Given the description of an element on the screen output the (x, y) to click on. 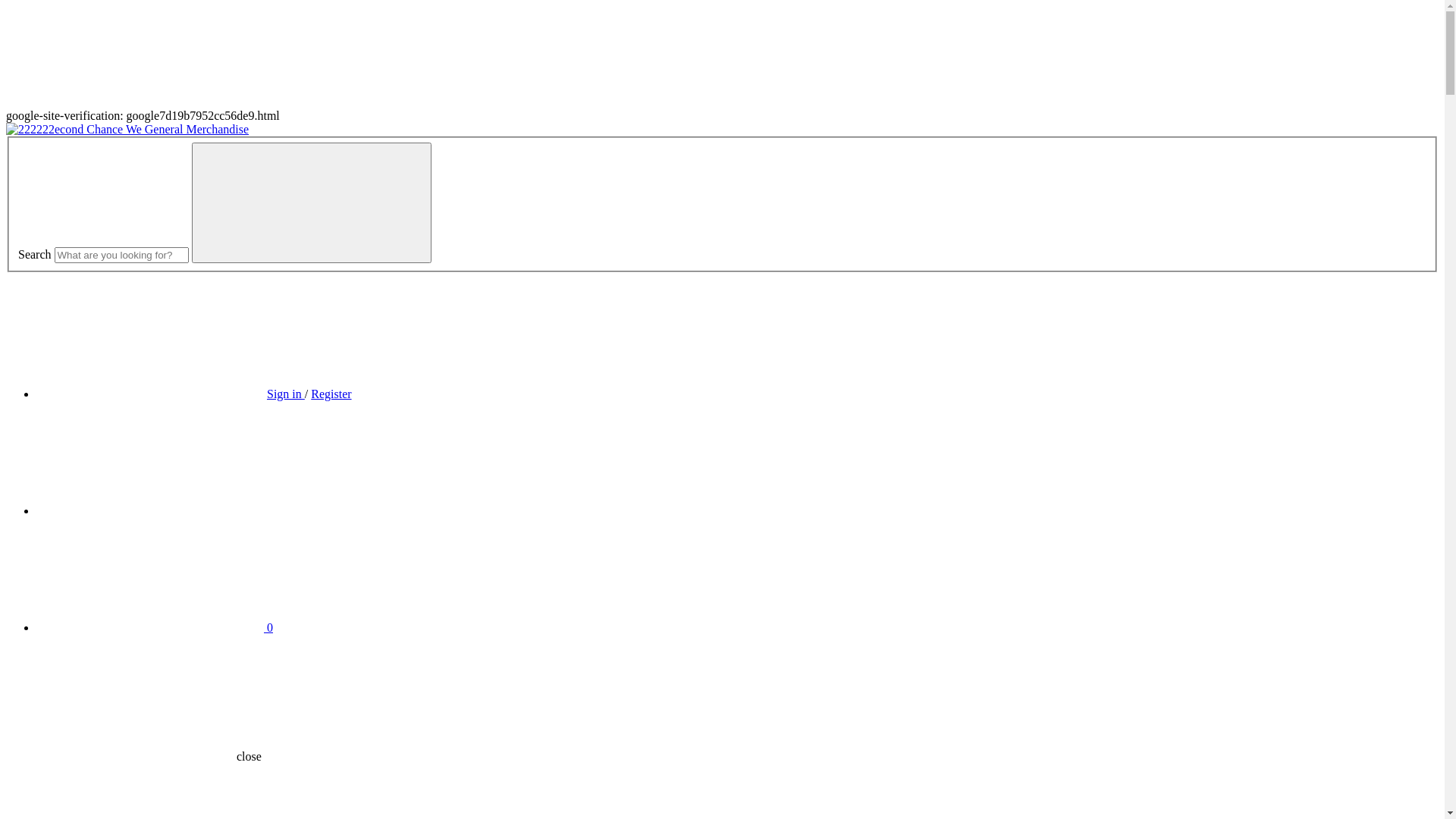
0 Element type: text (154, 627)
222222econd Chance We  General Merchandise Element type: hover (127, 129)
Sign in Element type: text (285, 393)
Register Element type: text (330, 393)
